Given the description of an element on the screen output the (x, y) to click on. 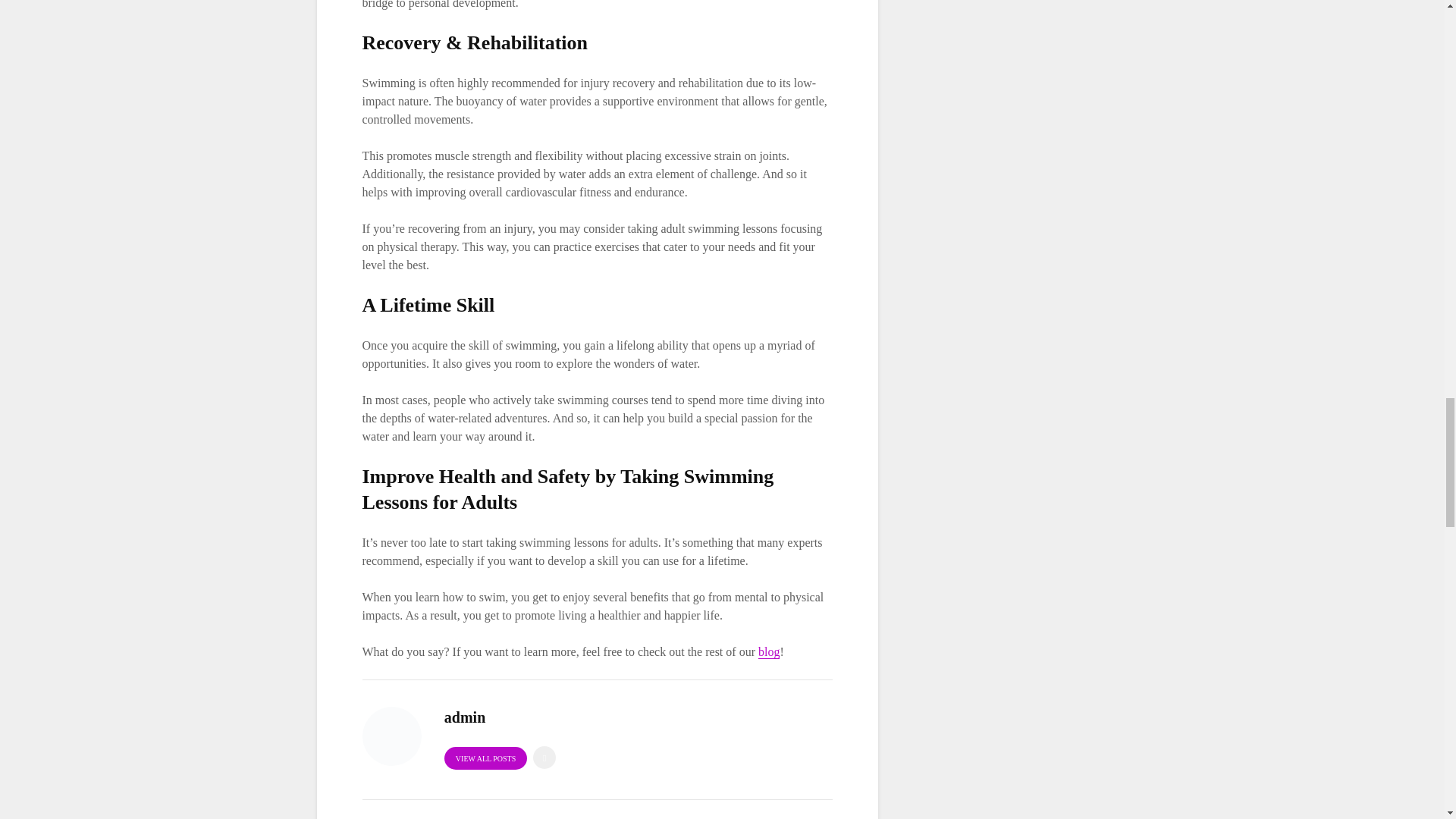
blog (768, 652)
VIEW ALL POSTS (485, 757)
